Given the description of an element on the screen output the (x, y) to click on. 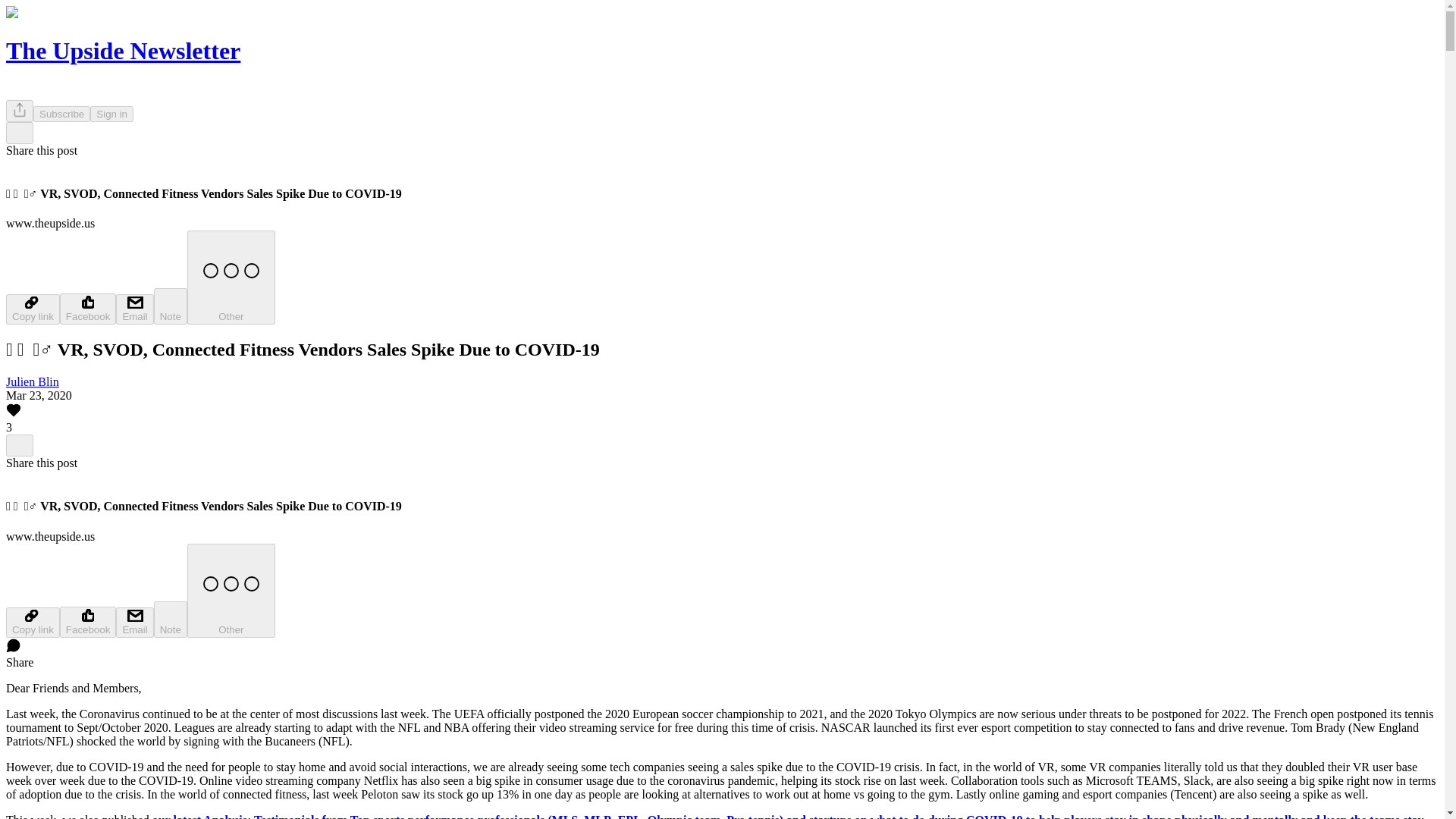
Facebook (87, 308)
Copy link (32, 622)
Sign in (111, 114)
Note (170, 619)
Subscribe (61, 114)
Email (134, 622)
The Upside Newsletter (122, 50)
Julien Blin (32, 381)
Facebook (87, 622)
Copy link (32, 309)
Email (134, 309)
Other (231, 277)
Note (170, 306)
Other (231, 590)
